Given the description of an element on the screen output the (x, y) to click on. 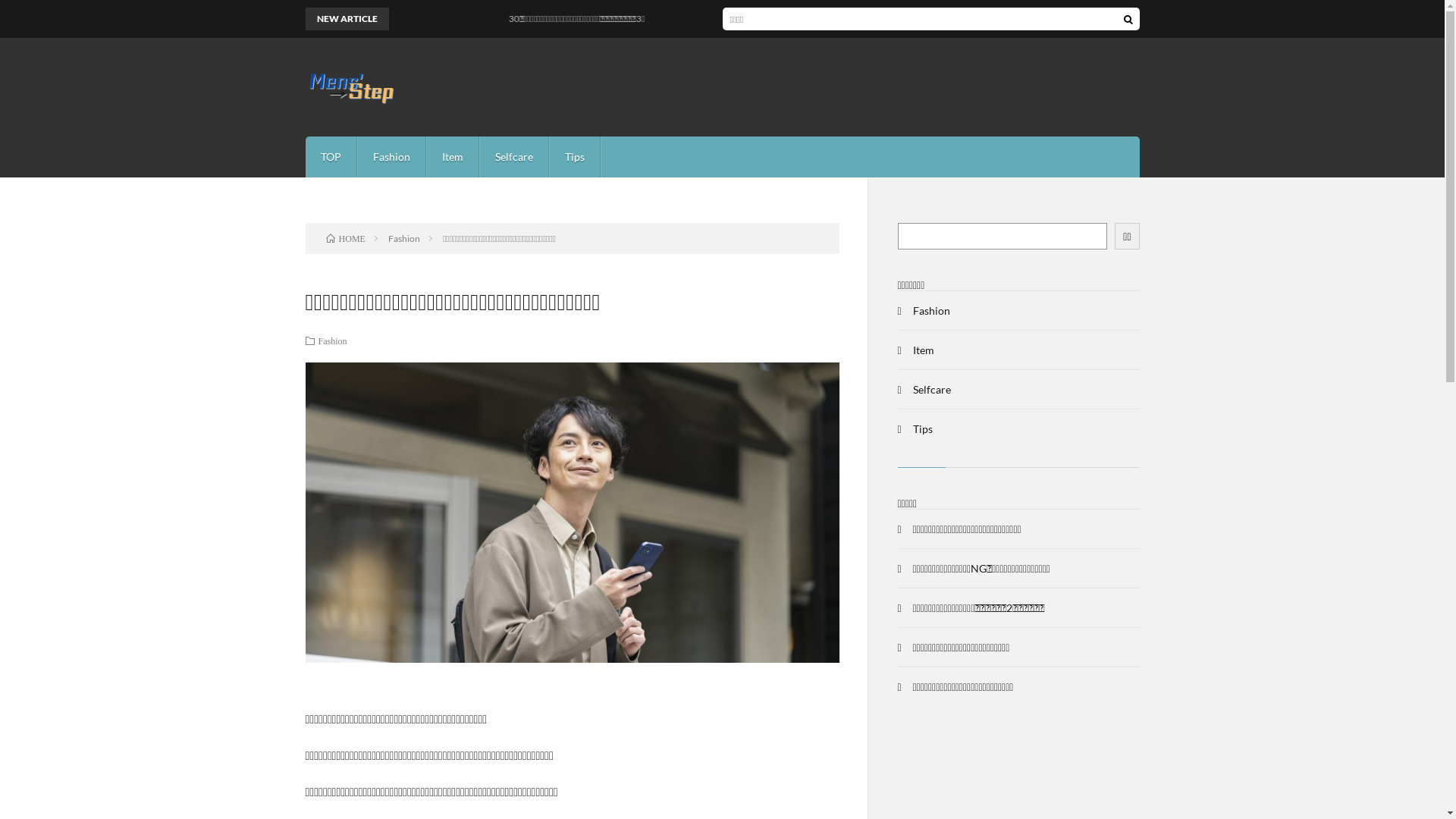
Fashion Element type: text (332, 340)
Fashion Element type: text (404, 238)
Item Element type: text (923, 349)
Fashion Element type: text (931, 310)
Tips Element type: text (922, 428)
Fashion Element type: text (391, 156)
Item Element type: text (451, 156)
Tips Element type: text (574, 156)
TOP Element type: text (329, 156)
Selfcare Element type: text (513, 156)
HOME Element type: text (345, 238)
Selfcare Element type: text (931, 388)
search Element type: text (1127, 18)
